Given the description of an element on the screen output the (x, y) to click on. 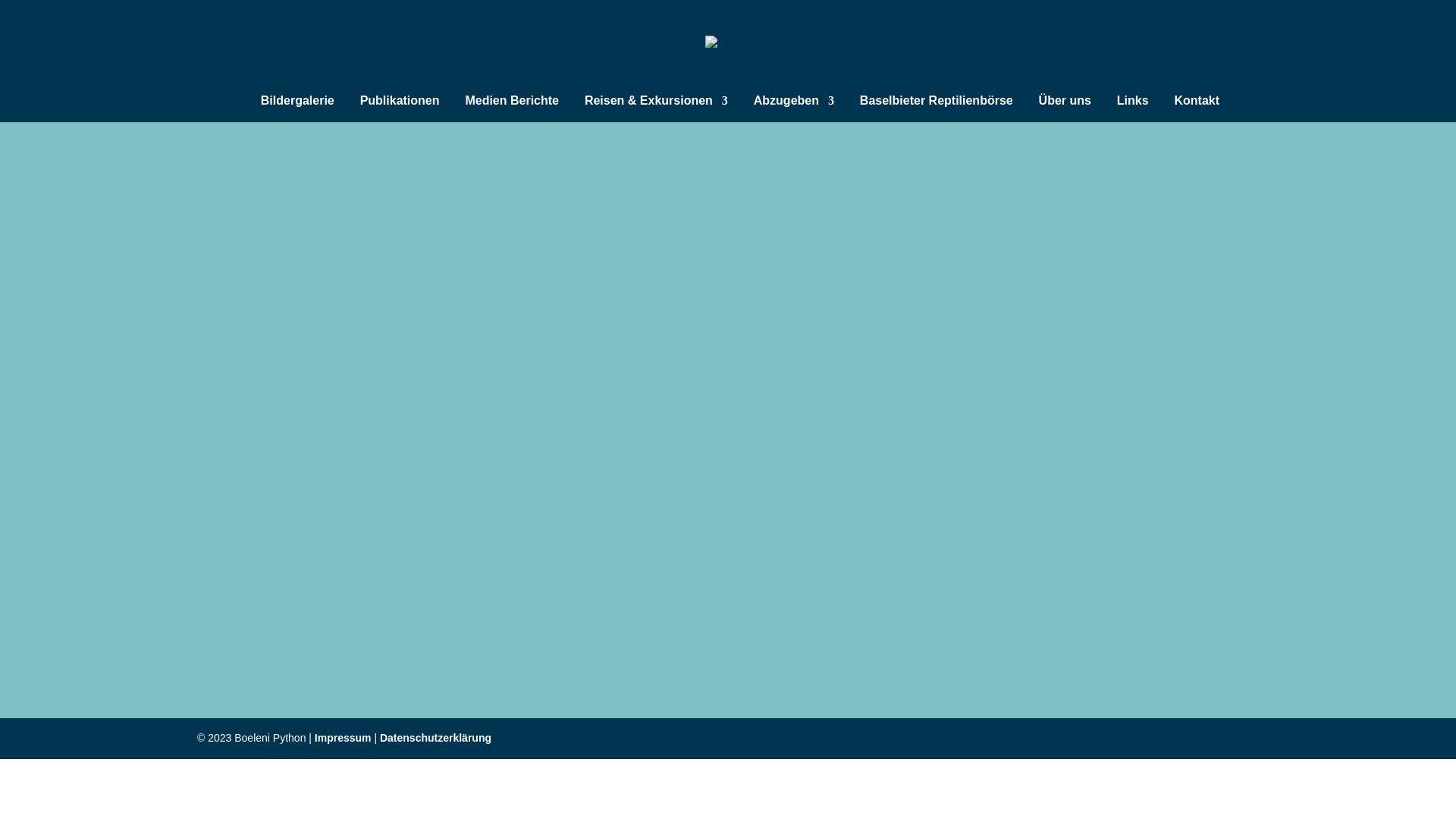
Publikationen Element type: text (399, 108)
Abzugeben Element type: text (793, 108)
Reisen & Exkursionen Element type: text (656, 108)
Impressum Element type: text (342, 737)
Links Element type: text (1132, 108)
Kontakt Element type: text (1197, 108)
Medien Berichte Element type: text (511, 108)
Bildergalerie Element type: text (297, 108)
